Given the description of an element on the screen output the (x, y) to click on. 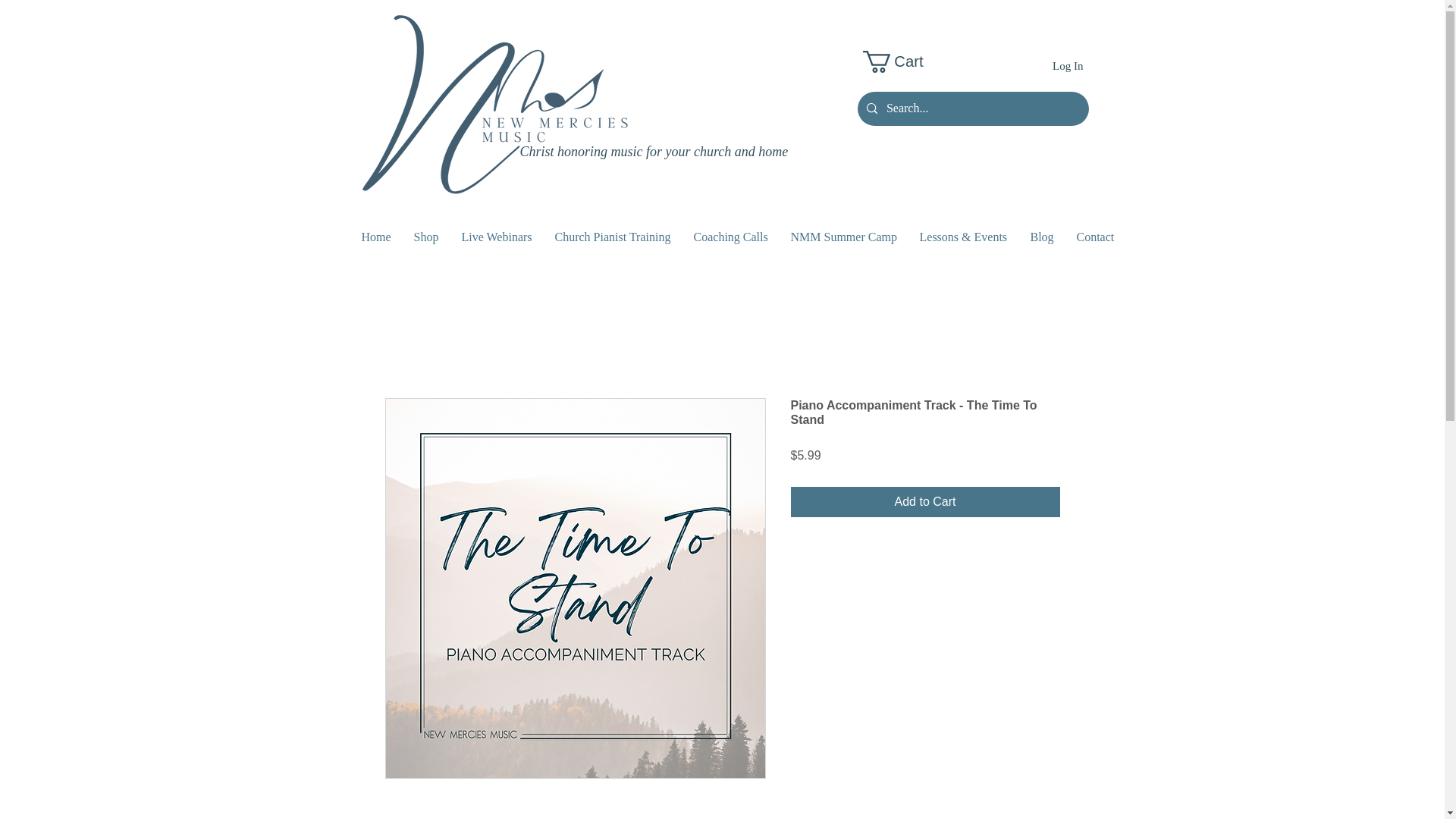
Home (376, 236)
Cart (904, 61)
Church Pianist Training (612, 236)
Cart (904, 61)
Shop (425, 236)
Log In (1067, 65)
NMM Summer Camp (843, 236)
Christian Music for your church and home (492, 105)
Contact (1094, 236)
Blog (1042, 236)
